Given the description of an element on the screen output the (x, y) to click on. 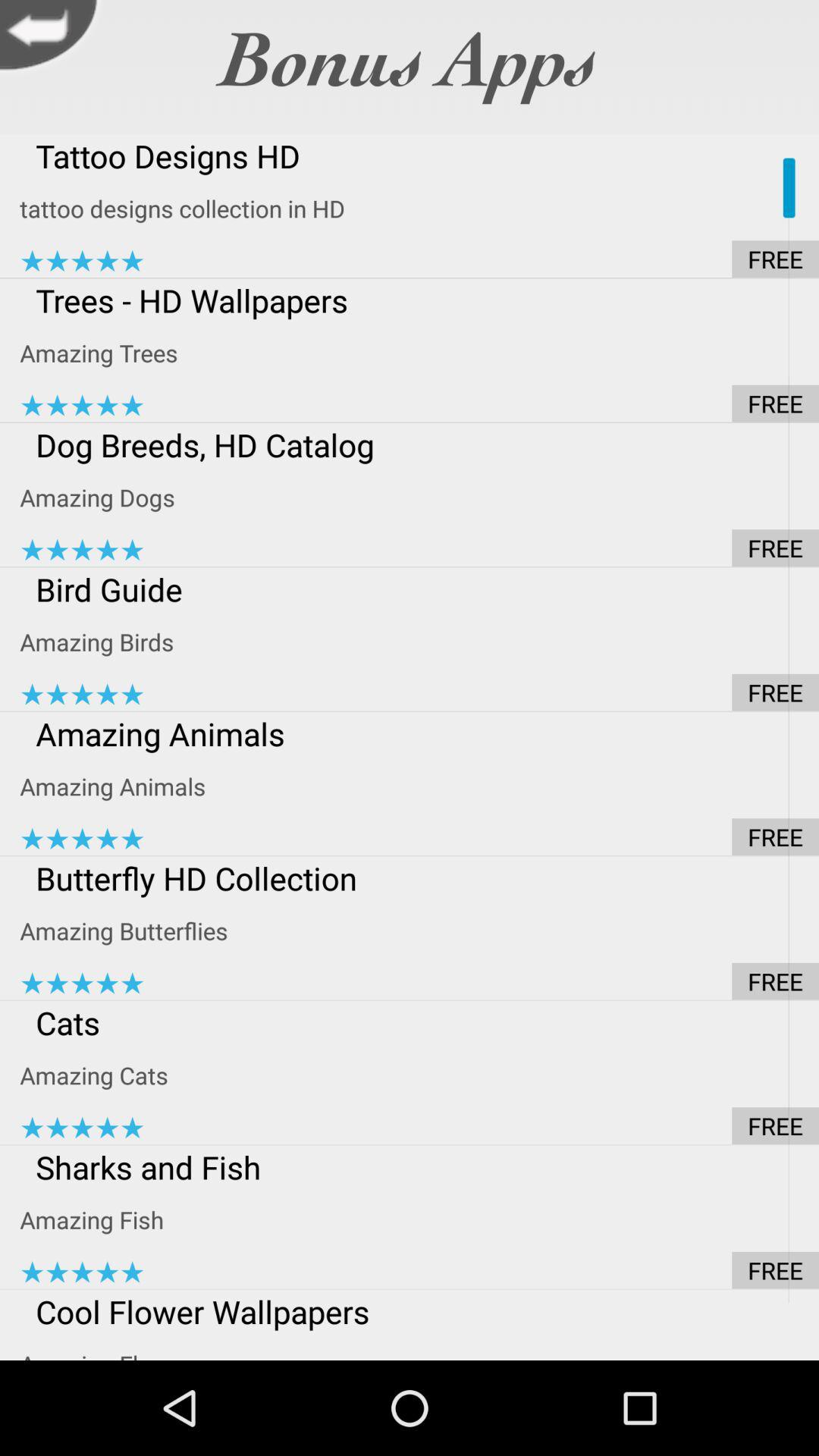
open the app above the amazing trees (419, 299)
